Given the description of an element on the screen output the (x, y) to click on. 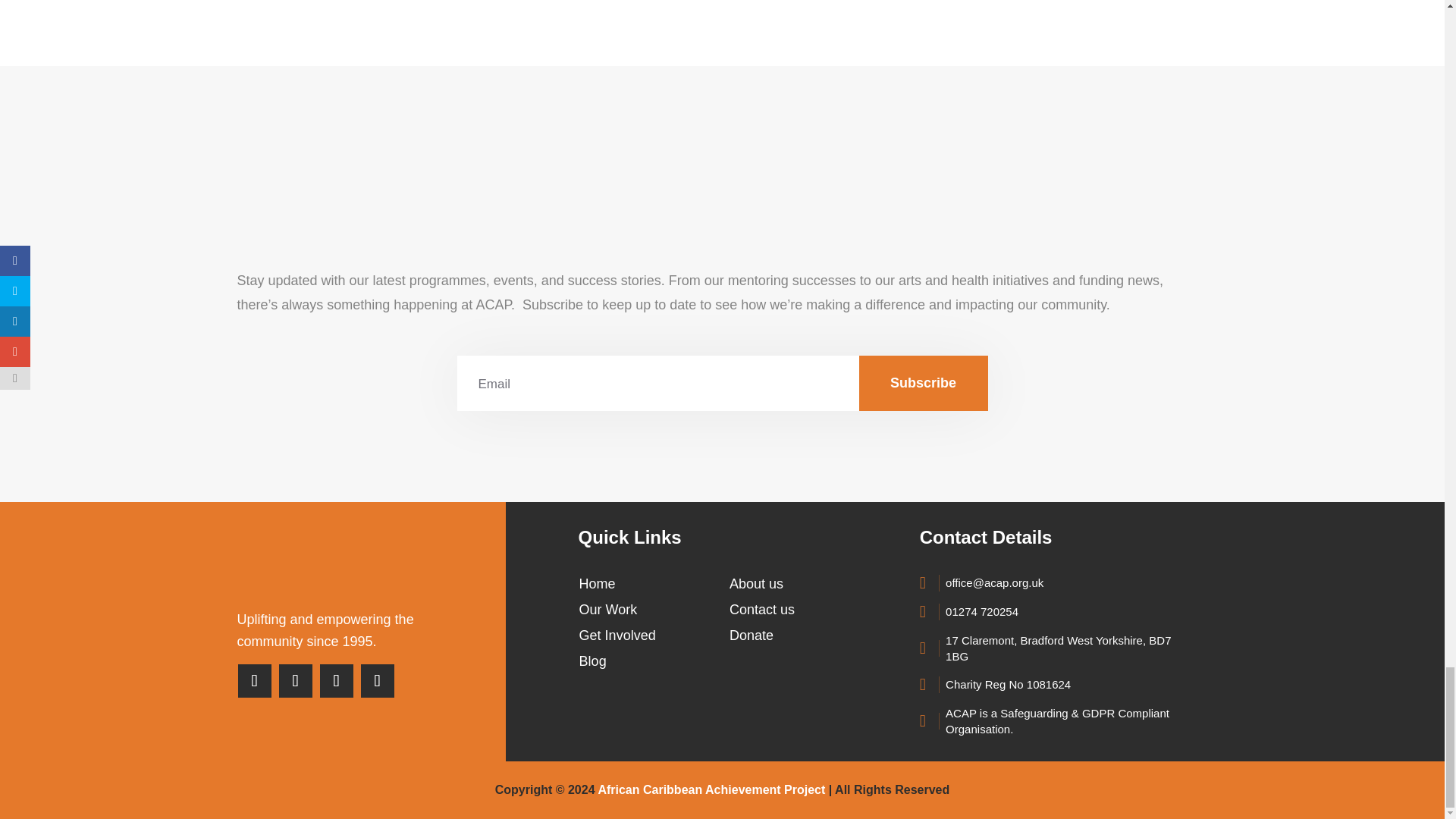
About us (756, 583)
Blog (593, 661)
Get Involved (617, 635)
Follow on Instagram (335, 680)
Follow on X (295, 680)
Home (597, 583)
Contact us (761, 609)
Our Work (608, 609)
Donate (751, 635)
Subscribe (923, 383)
Follow on LinkedIn (376, 680)
Follow on Facebook (252, 680)
premade-image-15 (722, 186)
